Given the description of an element on the screen output the (x, y) to click on. 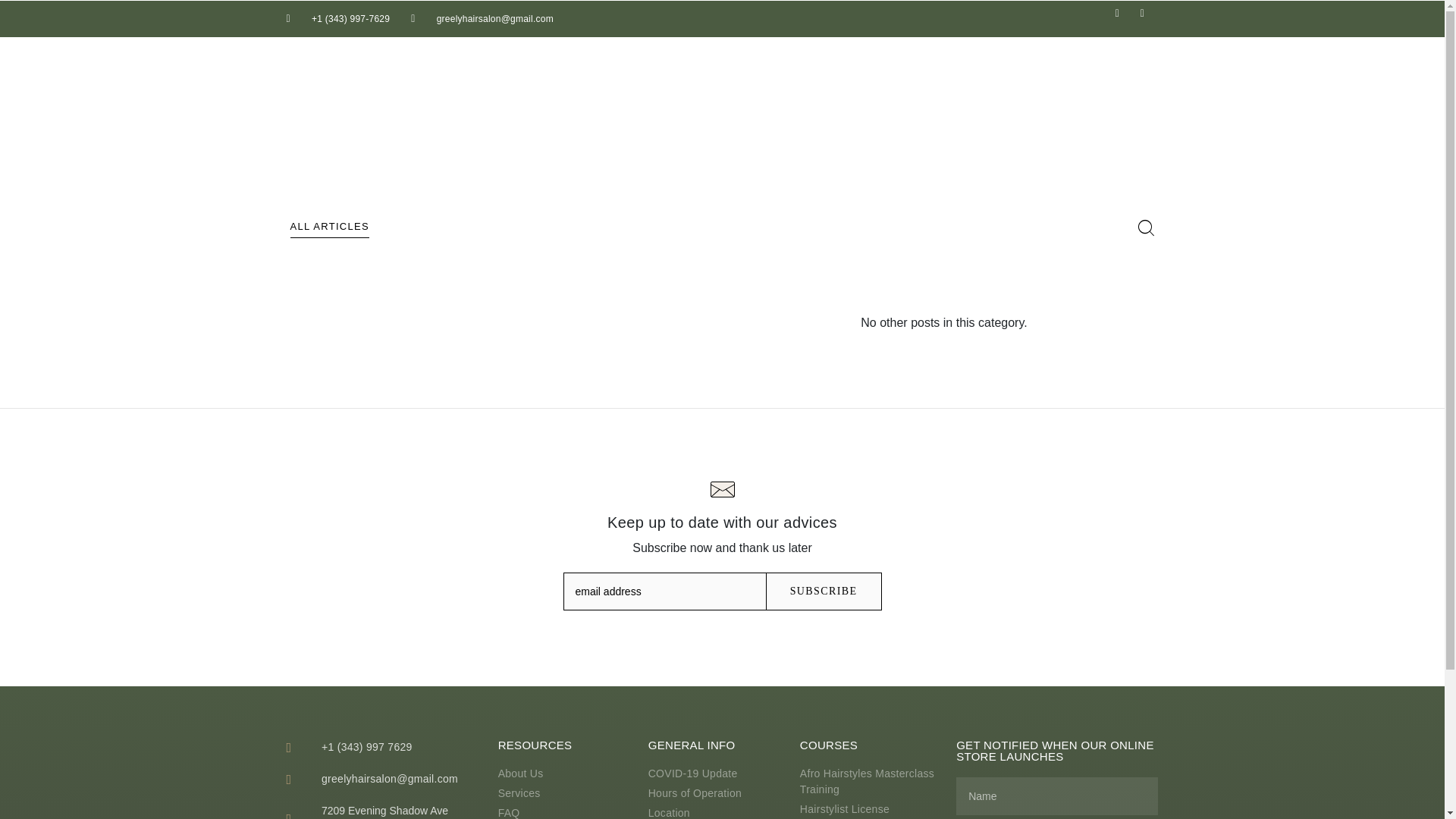
About Us (565, 773)
Services (565, 793)
Hours of Operation (715, 793)
FAQ (565, 812)
subscribe (823, 591)
Afro Hairstyles Masterclass Training (869, 781)
Hairstylist License Preparation Program (869, 810)
subscribe (823, 591)
ALL ARTICLES (328, 226)
Location (715, 812)
